Given the description of an element on the screen output the (x, y) to click on. 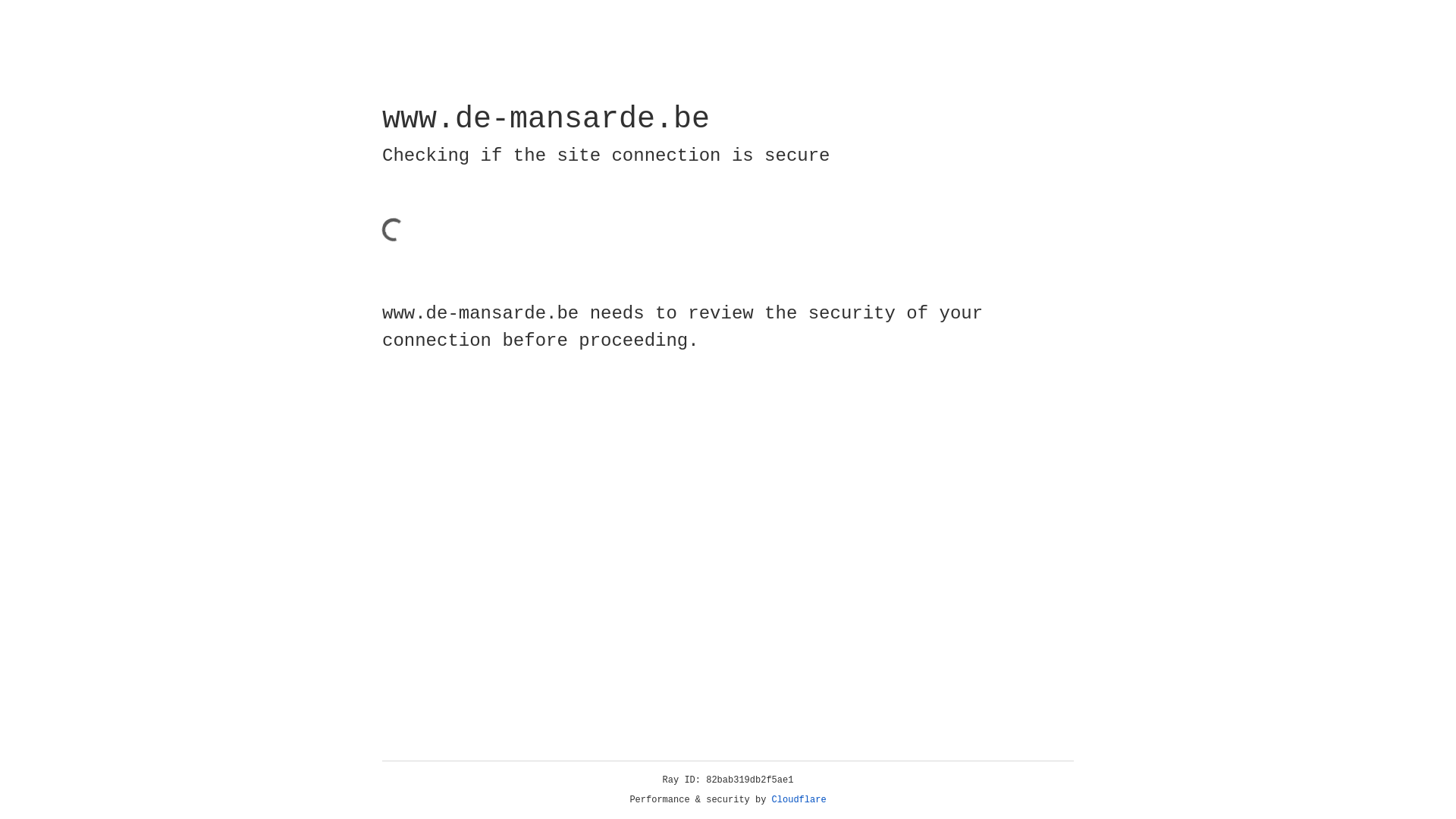
Cloudflare Element type: text (798, 799)
